Given the description of an element on the screen output the (x, y) to click on. 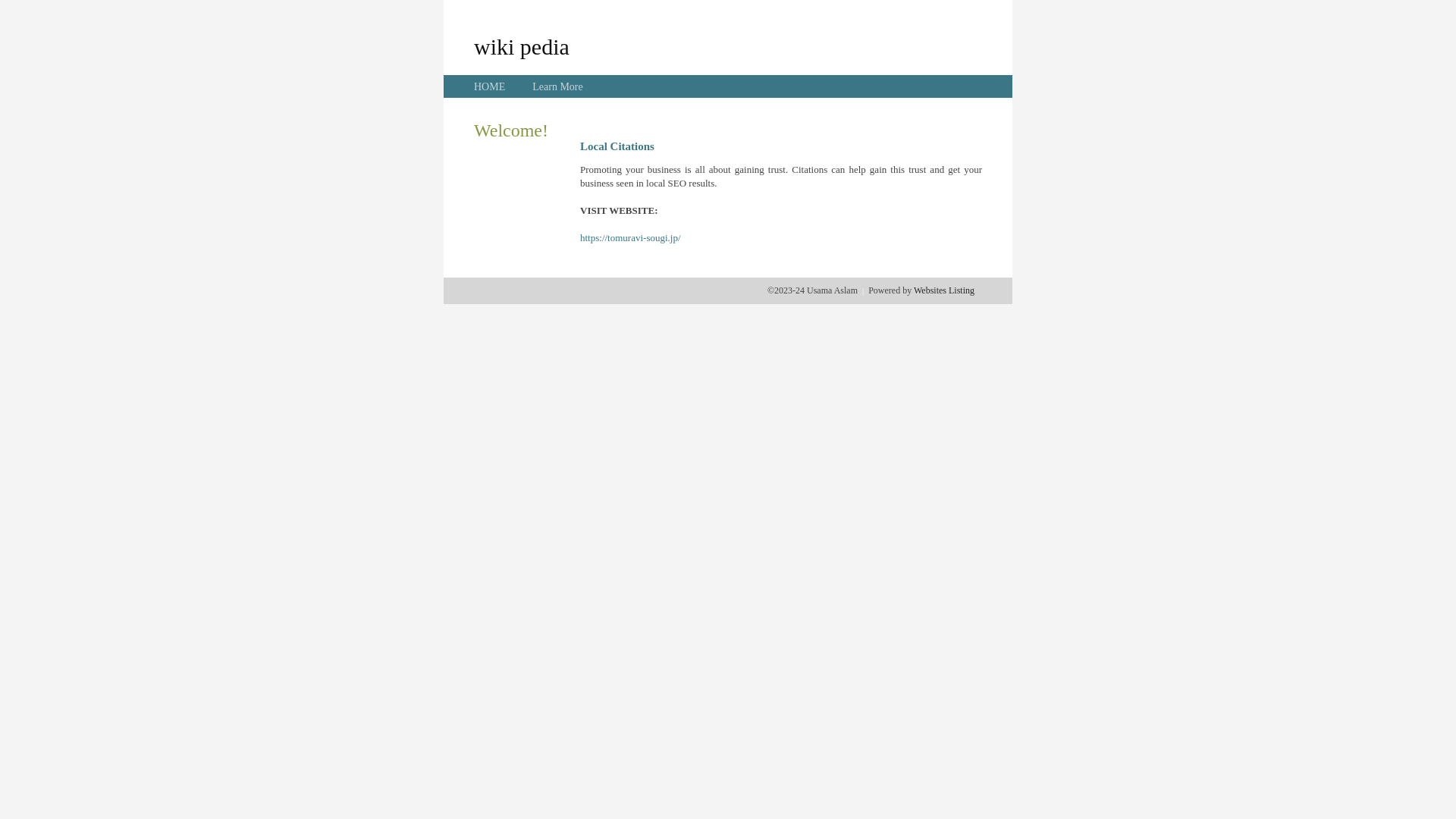
Websites Listing Element type: text (943, 290)
wiki pedia Element type: text (521, 46)
HOME Element type: text (489, 86)
https://tomuravi-sougi.jp/ Element type: text (630, 237)
Learn More Element type: text (557, 86)
